Given the description of an element on the screen output the (x, y) to click on. 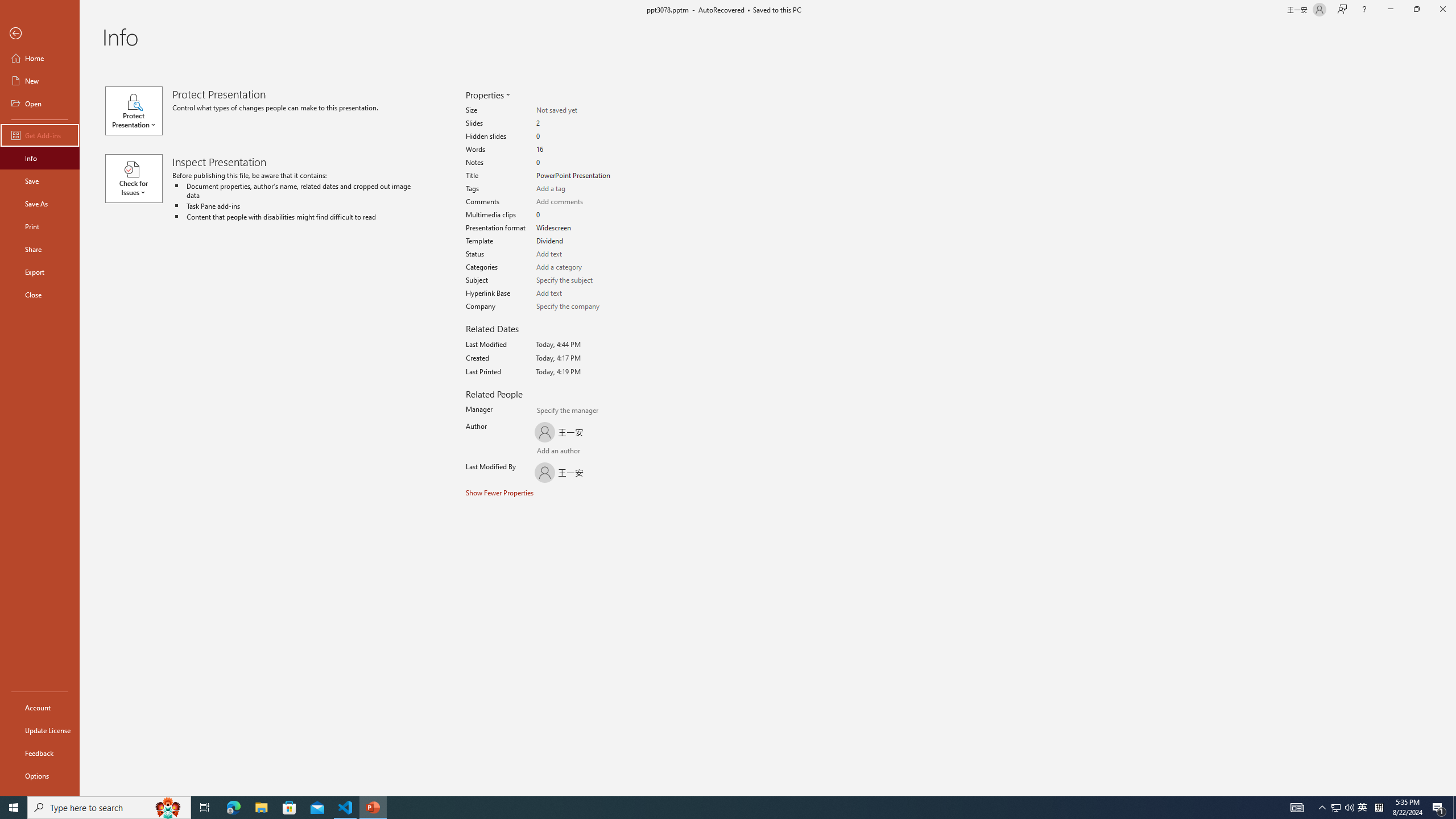
Export (40, 271)
Words (575, 149)
Show Fewer Properties (499, 492)
Status (575, 253)
Feedback (40, 753)
Subject (575, 280)
Tags (575, 188)
Company (575, 306)
Options (40, 775)
Presentation format (575, 227)
Multimedia clips (575, 214)
New (40, 80)
